Given the description of an element on the screen output the (x, y) to click on. 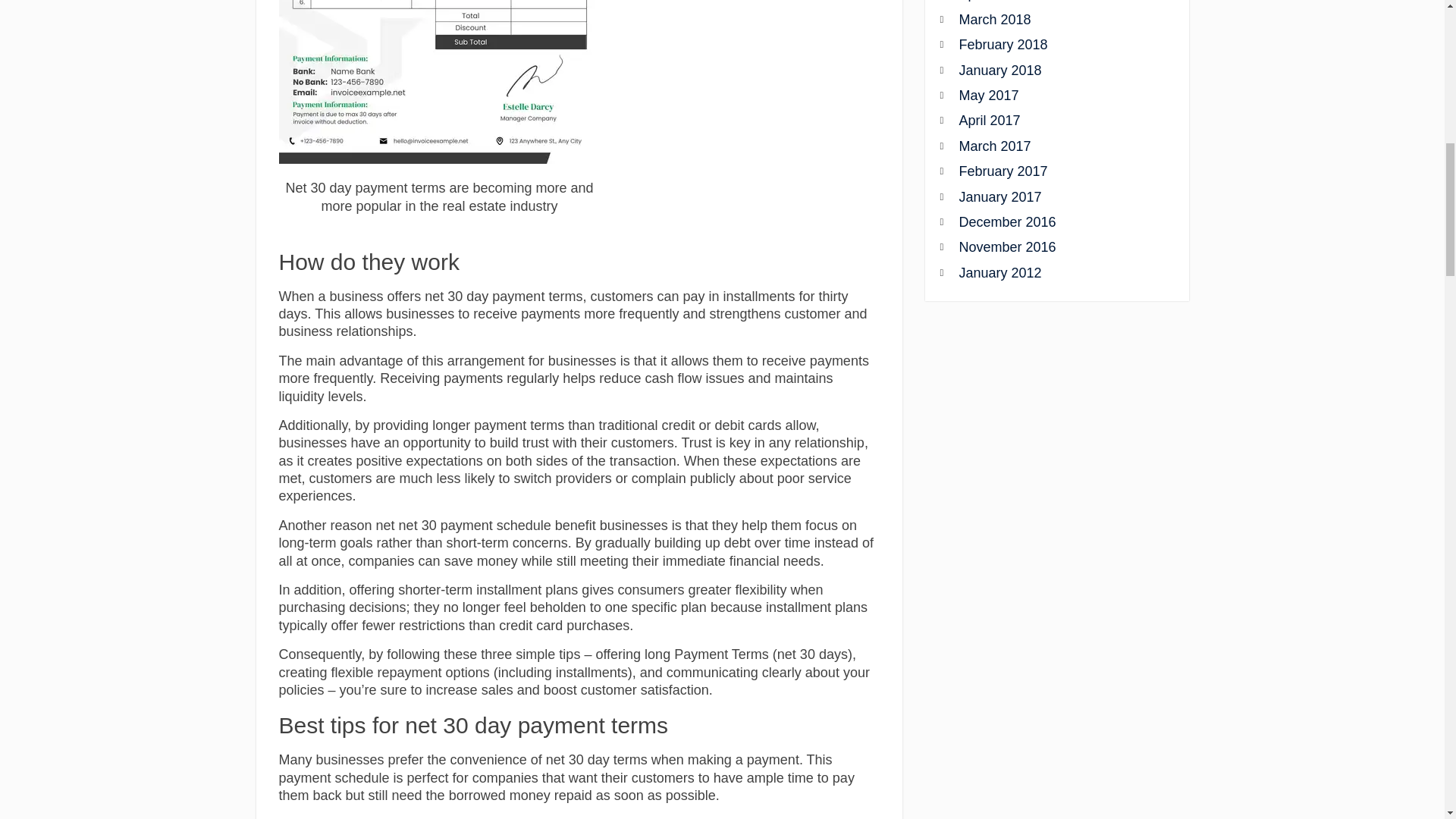
February 2018 (1049, 45)
March 2018 (1049, 19)
April 2018 (1049, 1)
